Given the description of an element on the screen output the (x, y) to click on. 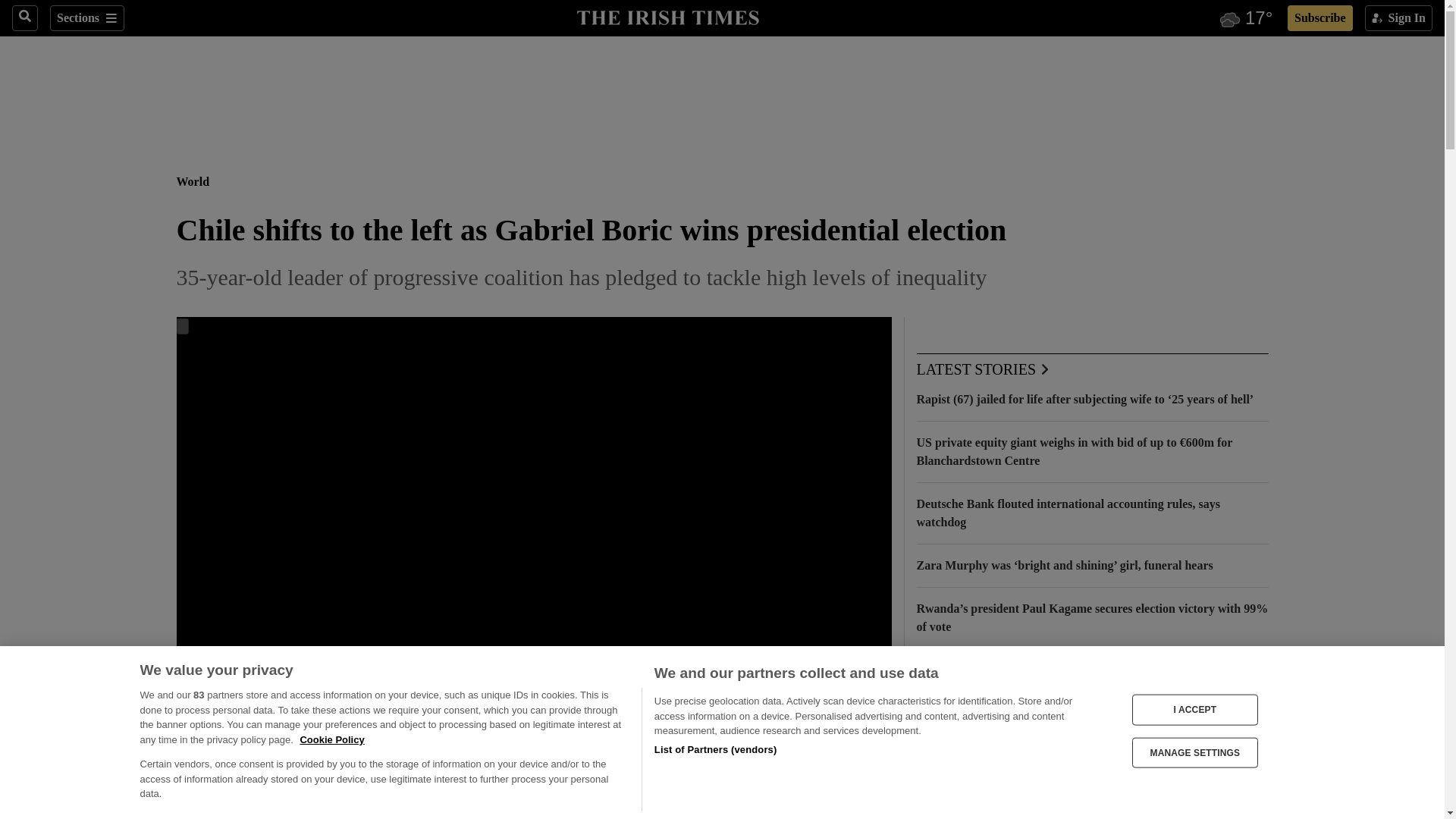
Sections (86, 17)
The Irish Times (667, 16)
Sign In (1398, 17)
Subscribe (1319, 17)
